Given the description of an element on the screen output the (x, y) to click on. 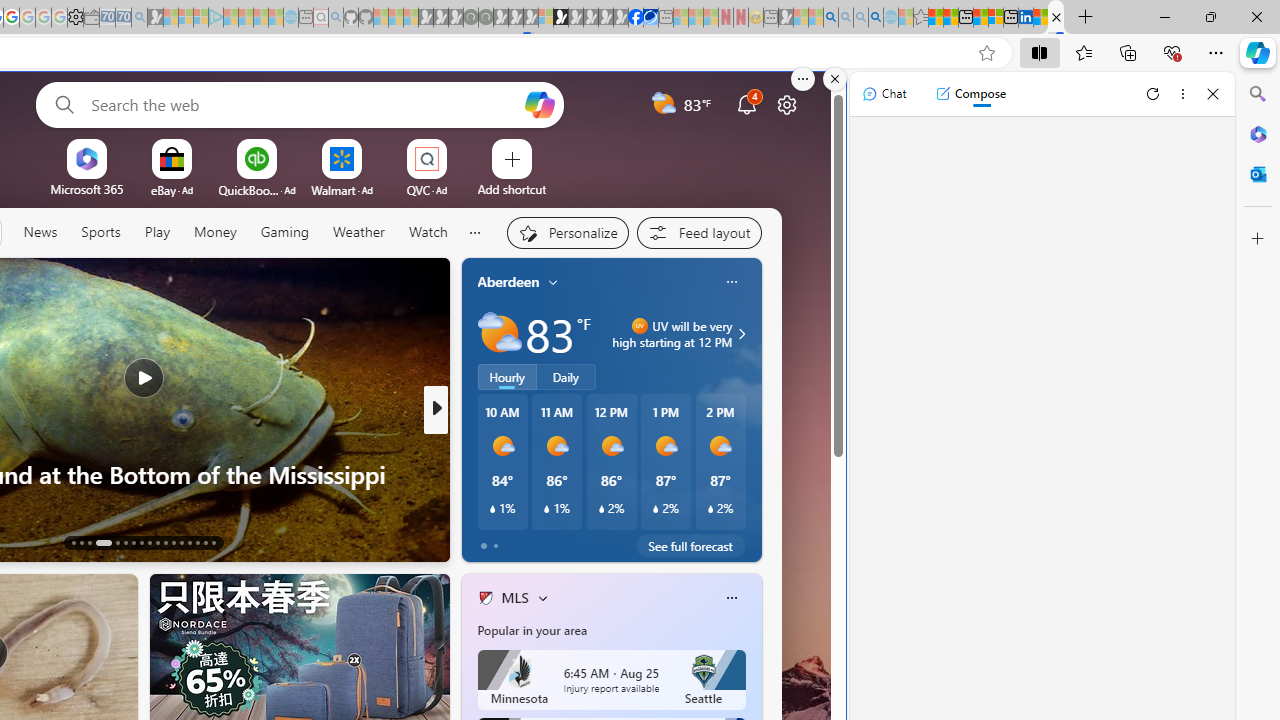
View comments 543 Comment (579, 541)
The Independent (477, 442)
More options. (803, 79)
View comments 10 Comment (574, 541)
AutomationID: tab-14 (80, 542)
tab-0 (483, 545)
View comments 18 Comment (582, 541)
My location (553, 281)
